Given the description of an element on the screen output the (x, y) to click on. 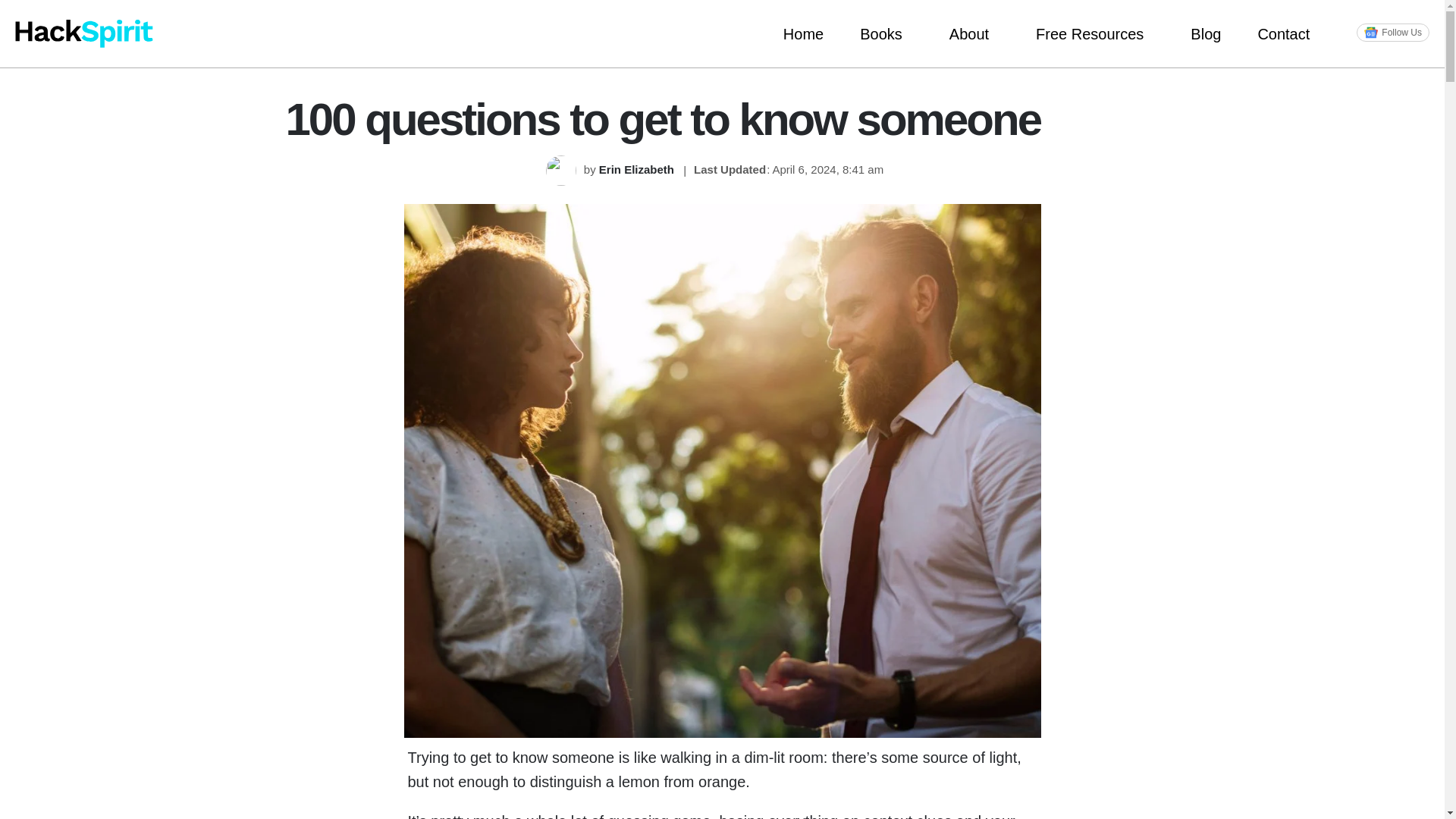
Blog (1205, 33)
Home (803, 33)
Contact (1288, 33)
Books (886, 33)
About (974, 33)
Posts by Erin Elizabeth (637, 169)
Free Resources (1094, 33)
